Given the description of an element on the screen output the (x, y) to click on. 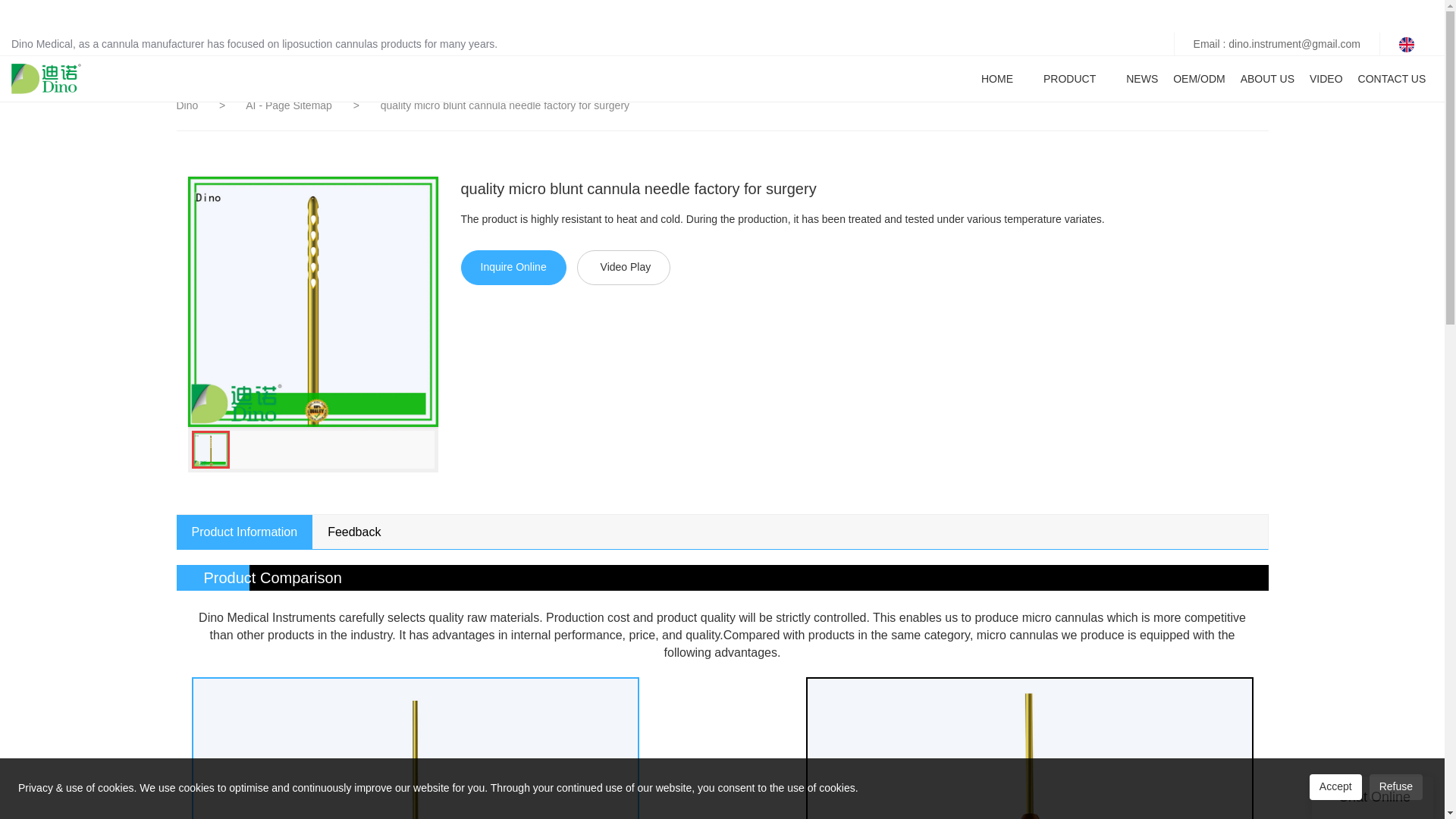
HOME (997, 78)
NEWS (1141, 78)
VIDEO (1325, 78)
CONTACT US (1392, 78)
ABOUT US (1267, 78)
PRODUCT (1069, 78)
